Given the description of an element on the screen output the (x, y) to click on. 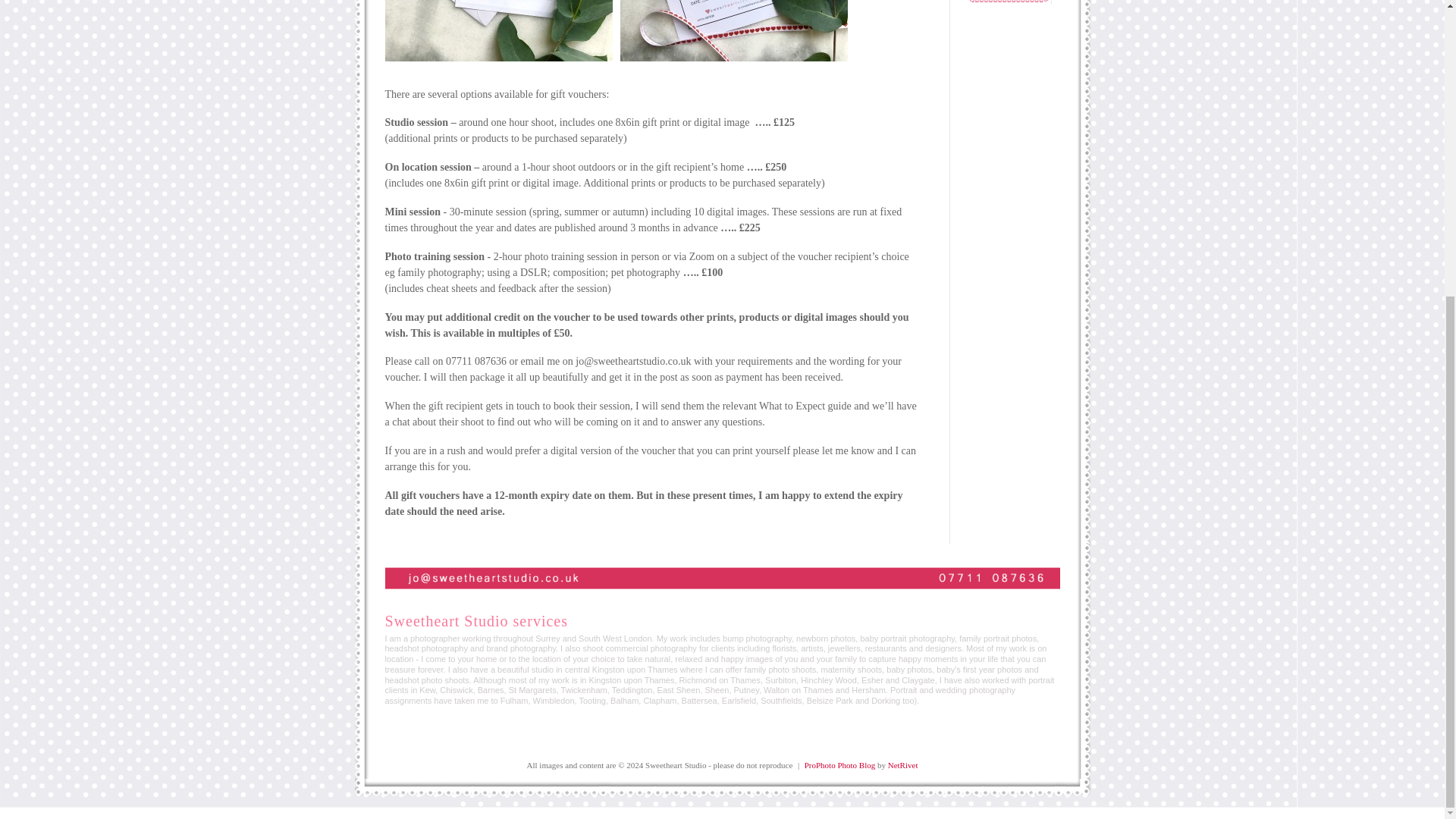
NetRivet (903, 764)
ProPhoto Photo Blog (840, 764)
P4 Photo Blog (840, 764)
NetRivet, Inc. (903, 764)
